Given the description of an element on the screen output the (x, y) to click on. 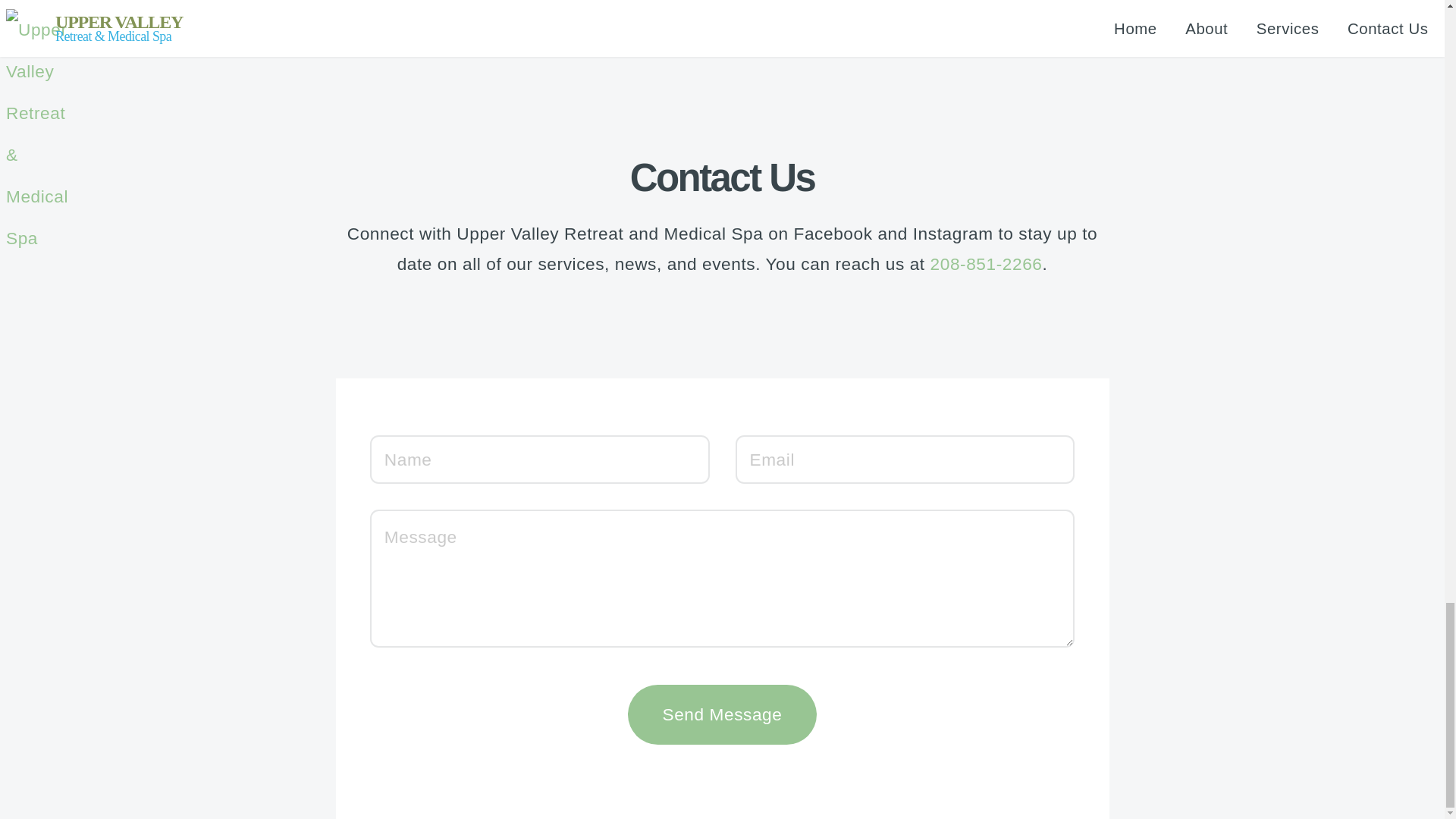
Send Message (721, 714)
208-851-2266 (986, 264)
Send Message (721, 714)
